Given the description of an element on the screen output the (x, y) to click on. 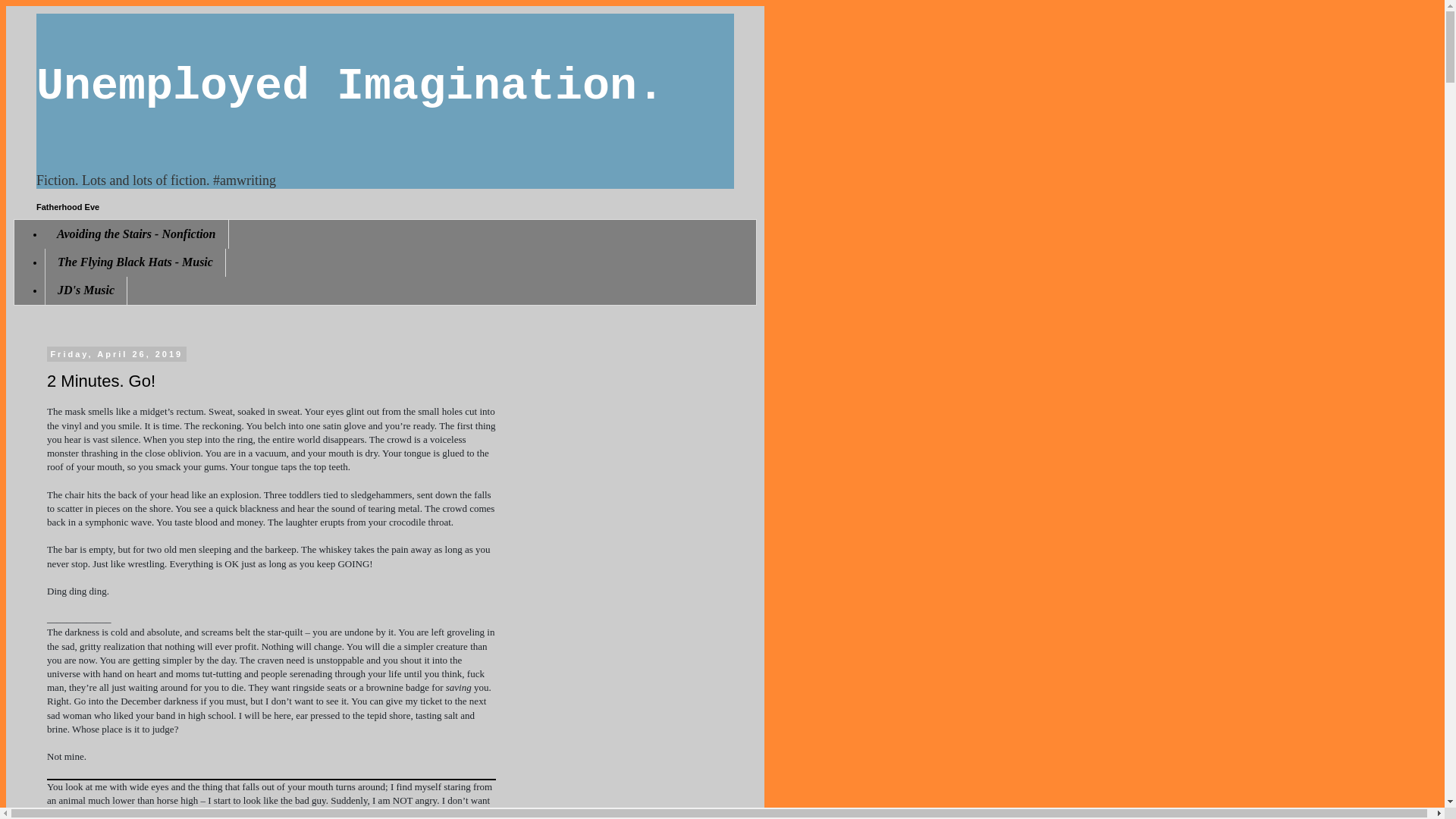
The Flying Black Hats - Music (135, 262)
JD's Music (86, 290)
Unemployed Imagination. (349, 86)
Avoiding the Stairs - Nonfiction (136, 234)
